Given the description of an element on the screen output the (x, y) to click on. 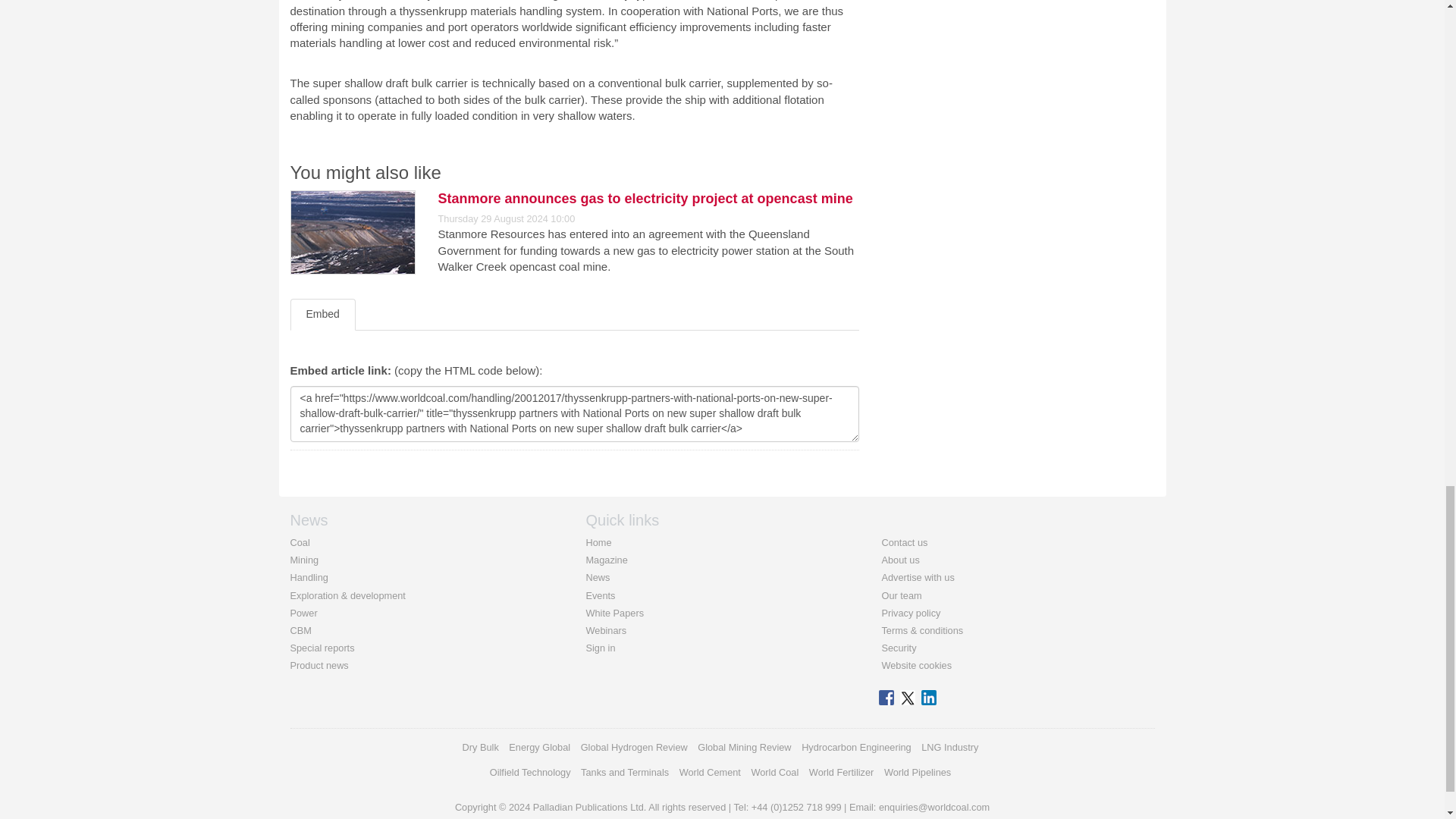
Embed (322, 314)
Power (303, 613)
Handling (308, 577)
Mining (303, 559)
Coal (298, 542)
